Given the description of an element on the screen output the (x, y) to click on. 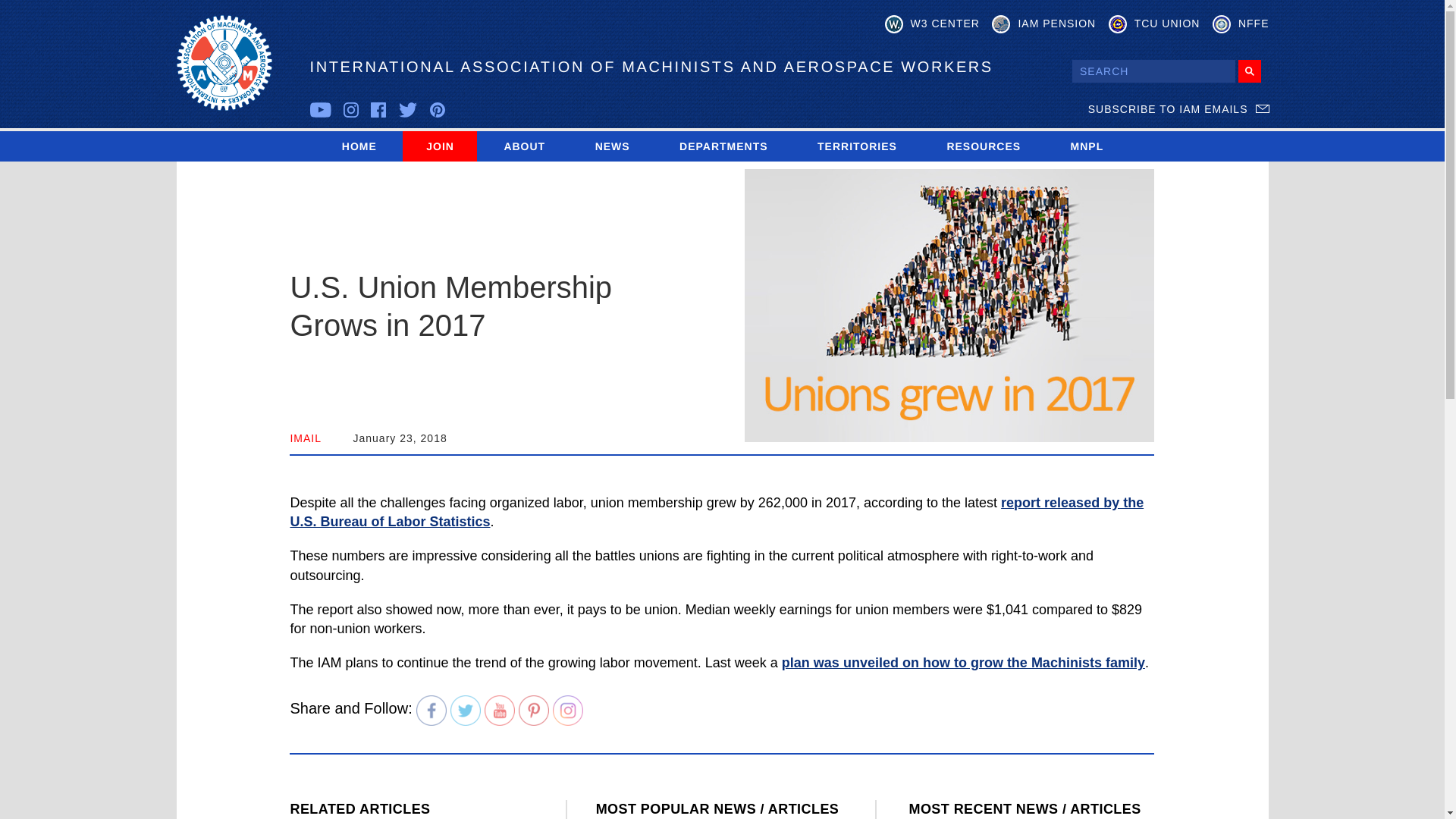
Pinterest (533, 710)
RESOURCES (983, 146)
plan was unveiled on how to grow the Machinists family (962, 662)
SUBSCRIBE TO IAM EMAILS (1178, 108)
NFFE (1240, 24)
NEWS (612, 146)
ABOUT (523, 146)
JOIN (440, 146)
HOME (358, 146)
YouTube (499, 710)
IMAIL (305, 438)
Twitter (464, 710)
MNPL (1086, 146)
DEPARTMENTS (723, 146)
report released by the U.S. Bureau of Labor Statistics (715, 512)
